Given the description of an element on the screen output the (x, y) to click on. 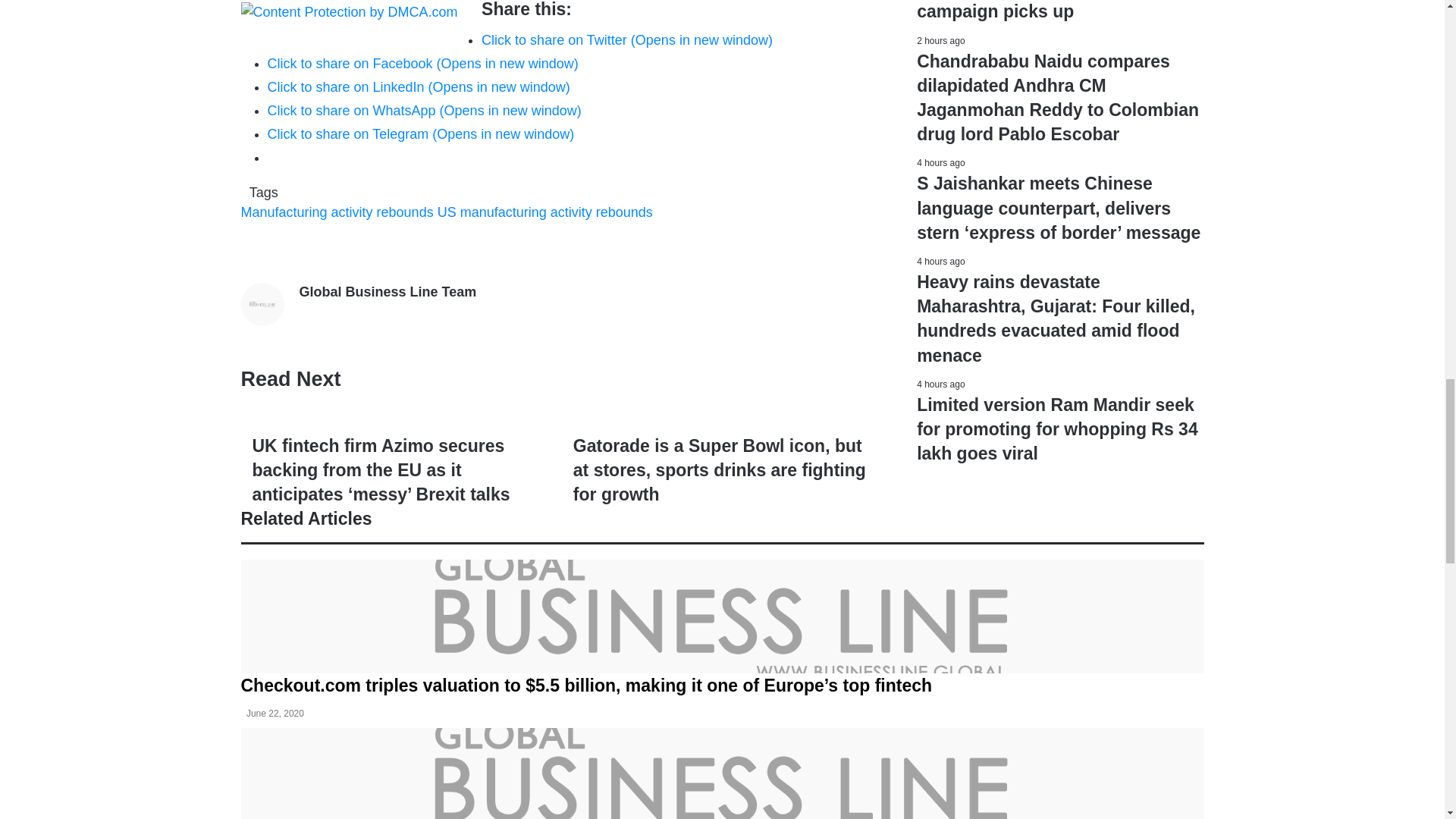
Content Protection by DMCA.com (349, 11)
Click to share on Telegram (419, 133)
Click to share on LinkedIn (417, 87)
Click to share on Twitter (627, 39)
Click to share on WhatsApp (423, 110)
Click to share on Facebook (422, 63)
